Given the description of an element on the screen output the (x, y) to click on. 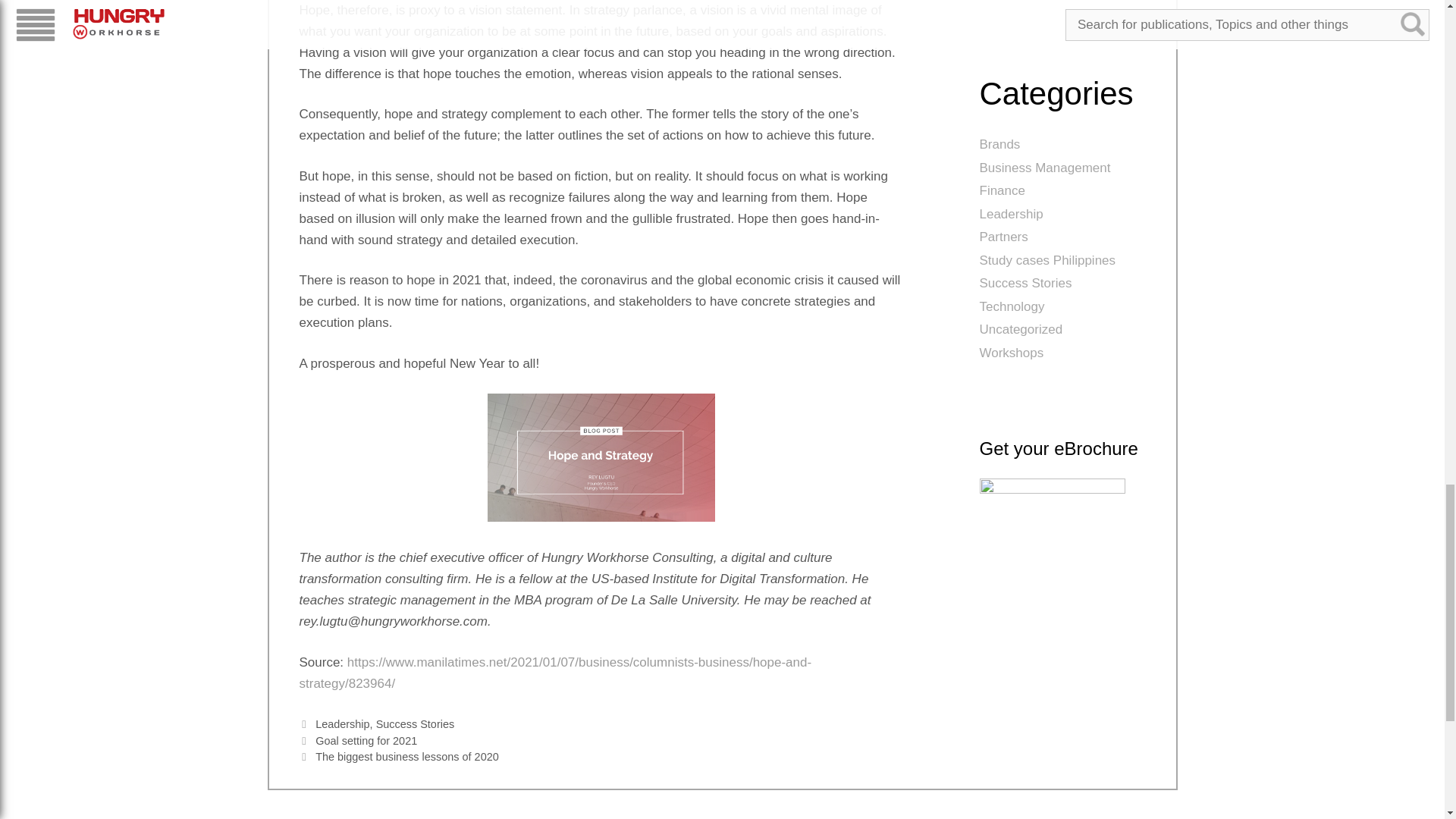
The biggest business lessons of 2020 (407, 756)
Goal setting for 2021 (365, 740)
Leadership (342, 724)
Success Stories (414, 724)
